Given the description of an element on the screen output the (x, y) to click on. 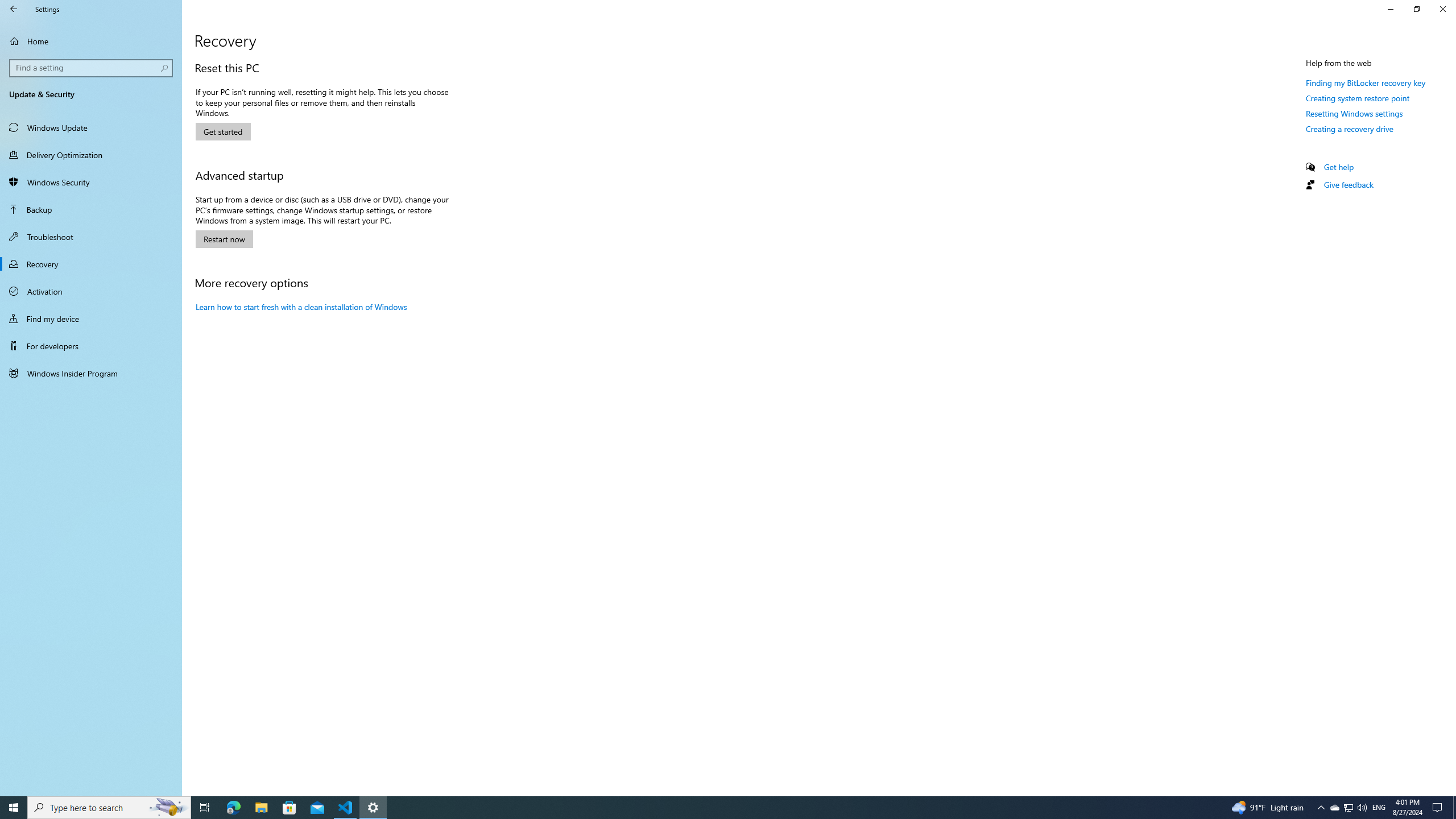
Troubleshoot (91, 236)
Resetting Windows settings (1354, 113)
Windows Security (91, 181)
Search box, Find a setting (91, 67)
Find my device (91, 318)
Backup (91, 208)
